Given the description of an element on the screen output the (x, y) to click on. 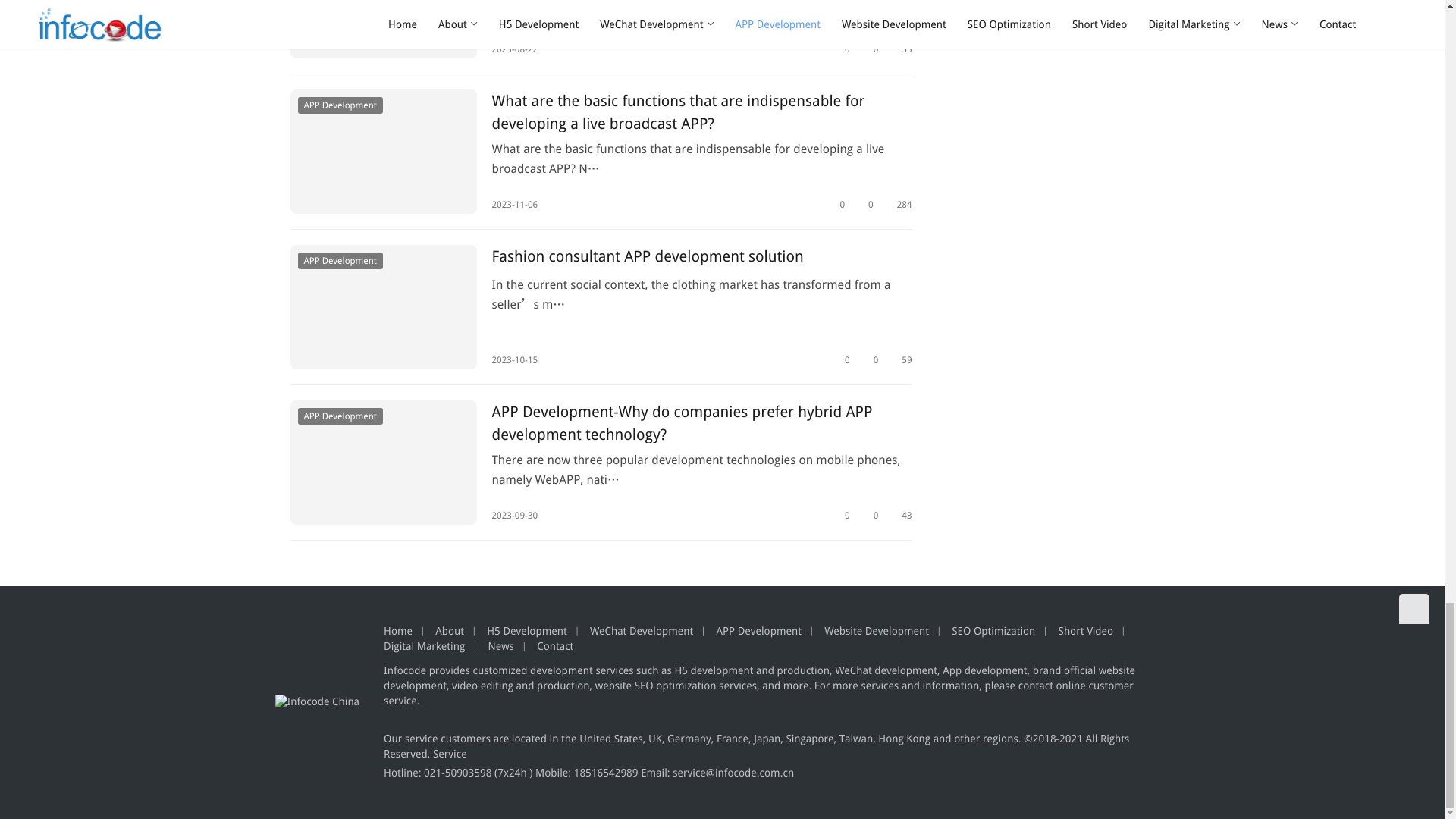
Favorites (841, 49)
